Given the description of an element on the screen output the (x, y) to click on. 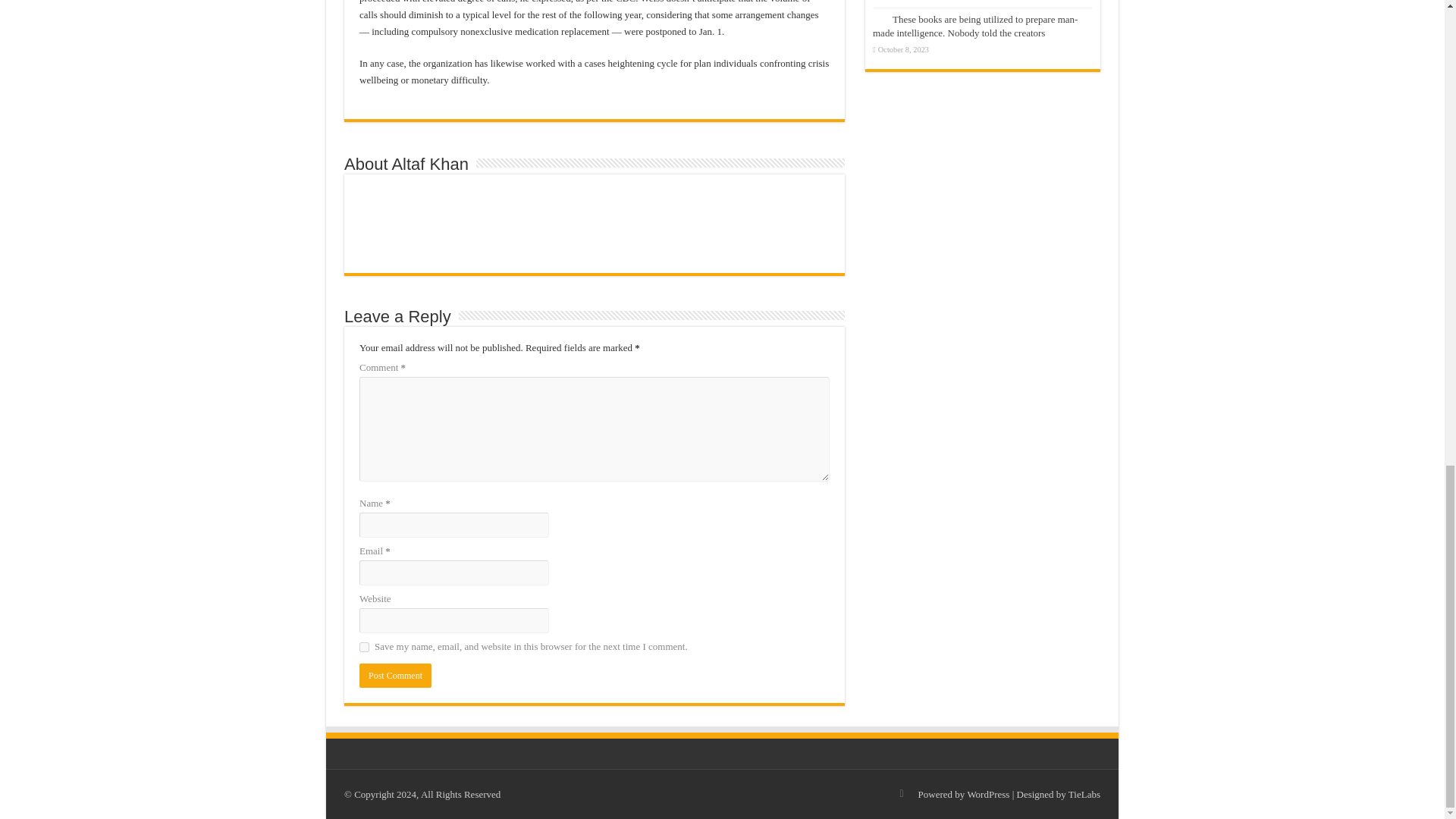
Post Comment (394, 675)
yes (364, 646)
Post Comment (394, 675)
